Given the description of an element on the screen output the (x, y) to click on. 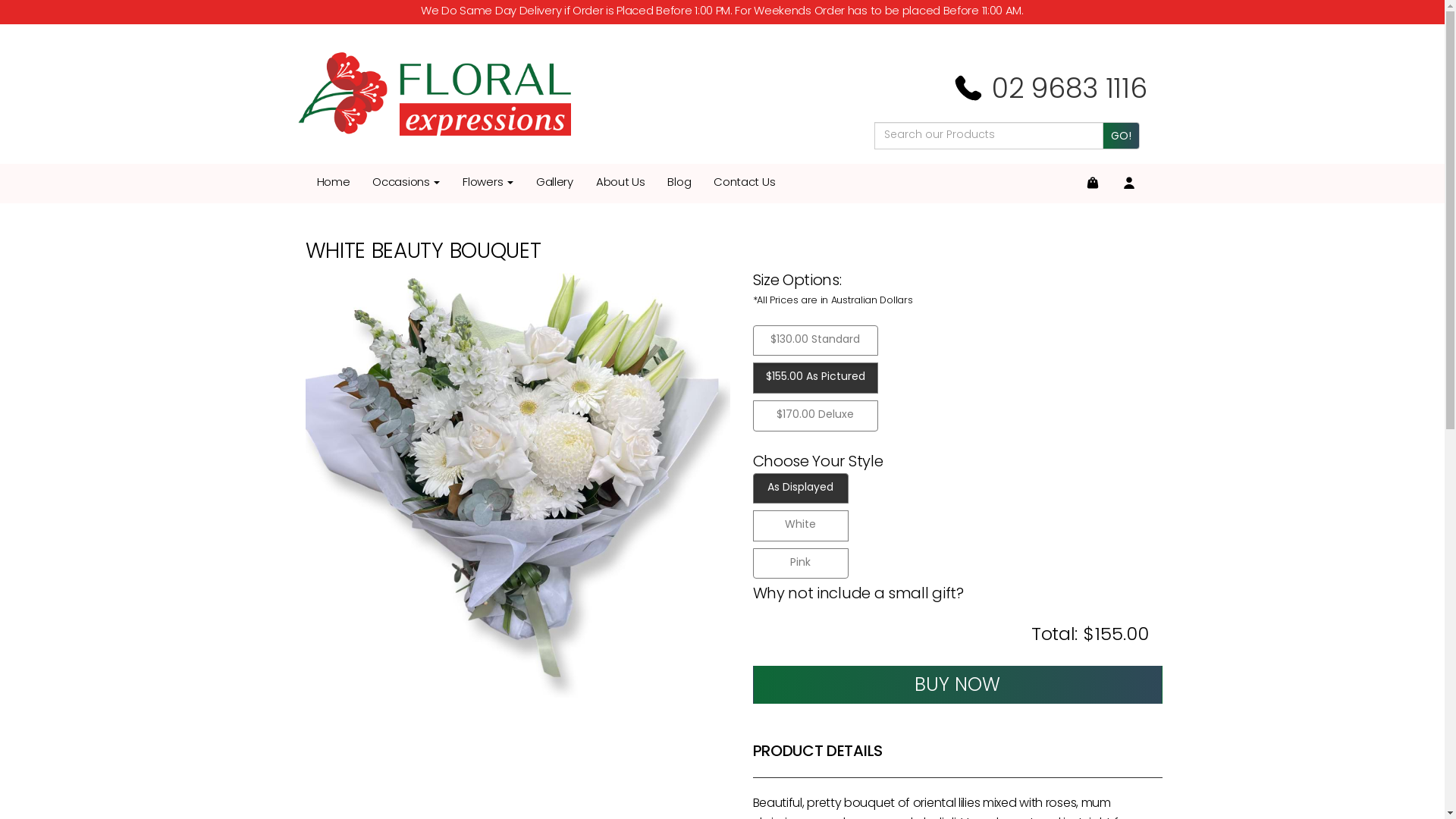
Occasions Element type: text (405, 183)
Gallery Element type: text (554, 183)
02 9683 1116 Element type: text (1047, 90)
Home Element type: text (332, 183)
Contact Us Element type: text (744, 183)
Flowers Element type: text (487, 183)
BUY NOW Element type: text (956, 684)
$130.00 Standard Element type: text (814, 340)
Blog Element type: text (678, 183)
$155.00 As Pictured Element type: text (814, 377)
GO! Element type: text (1120, 135)
About Us Element type: text (620, 183)
Floral Expressions Element type: hover (433, 93)
White Beauty Oriental Lily Bouquet Element type: hover (516, 485)
$170.00 Deluxe Element type: text (814, 415)
